Given the description of an element on the screen output the (x, y) to click on. 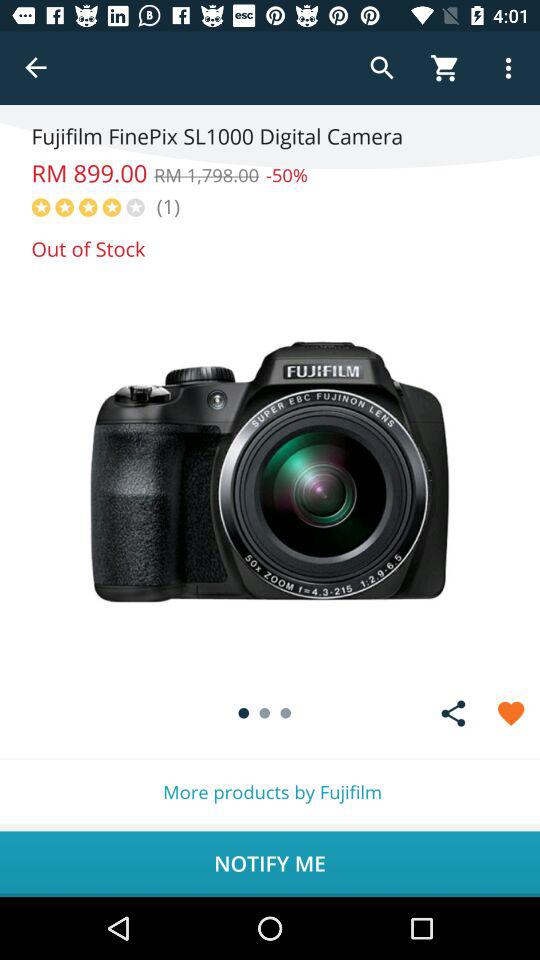
zoom image (269, 472)
